Given the description of an element on the screen output the (x, y) to click on. 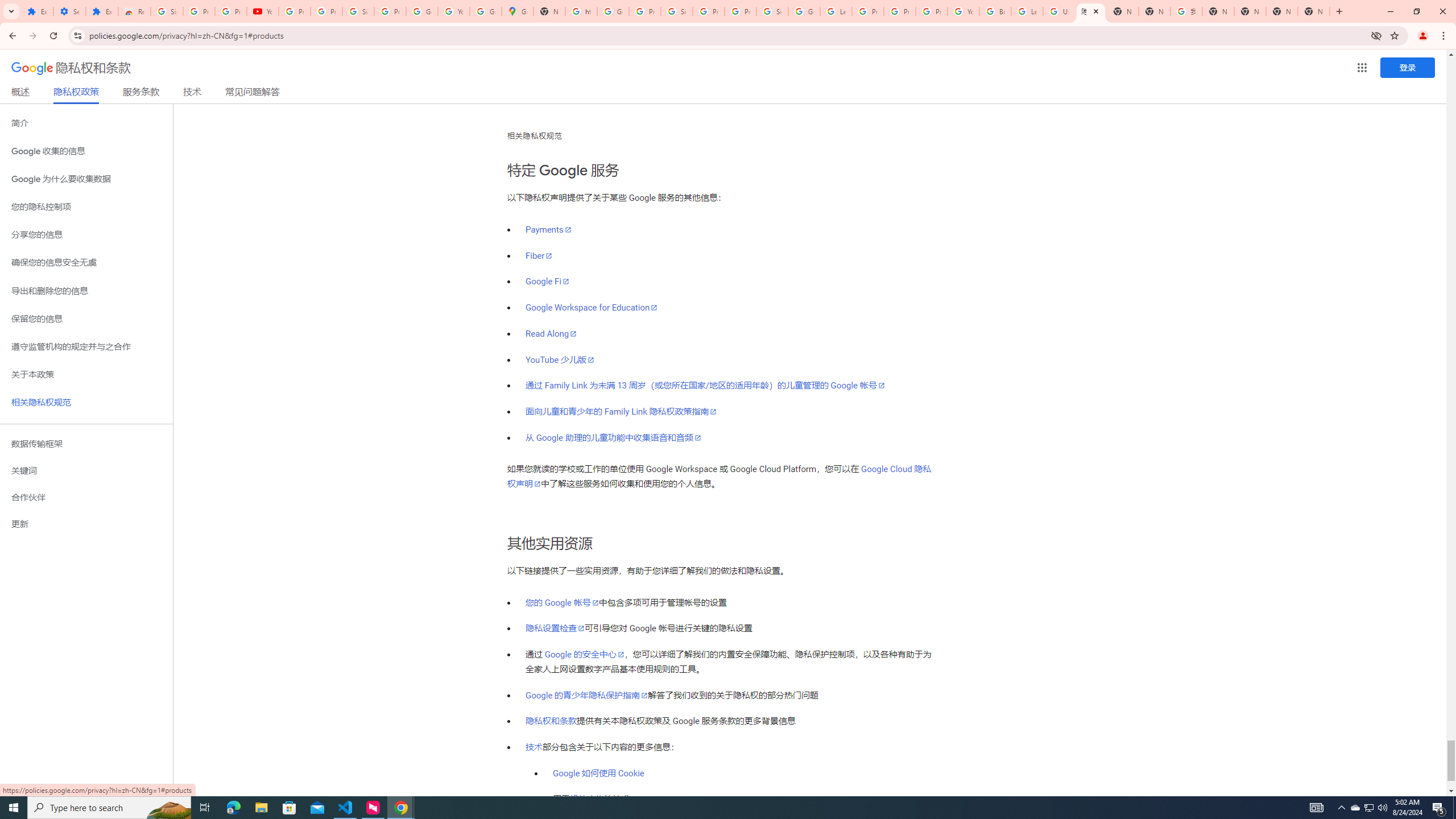
https://scholar.google.com/ (581, 11)
Google Workspace for Education (591, 307)
Extensions (101, 11)
Read Along (550, 333)
YouTube (963, 11)
